Given the description of an element on the screen output the (x, y) to click on. 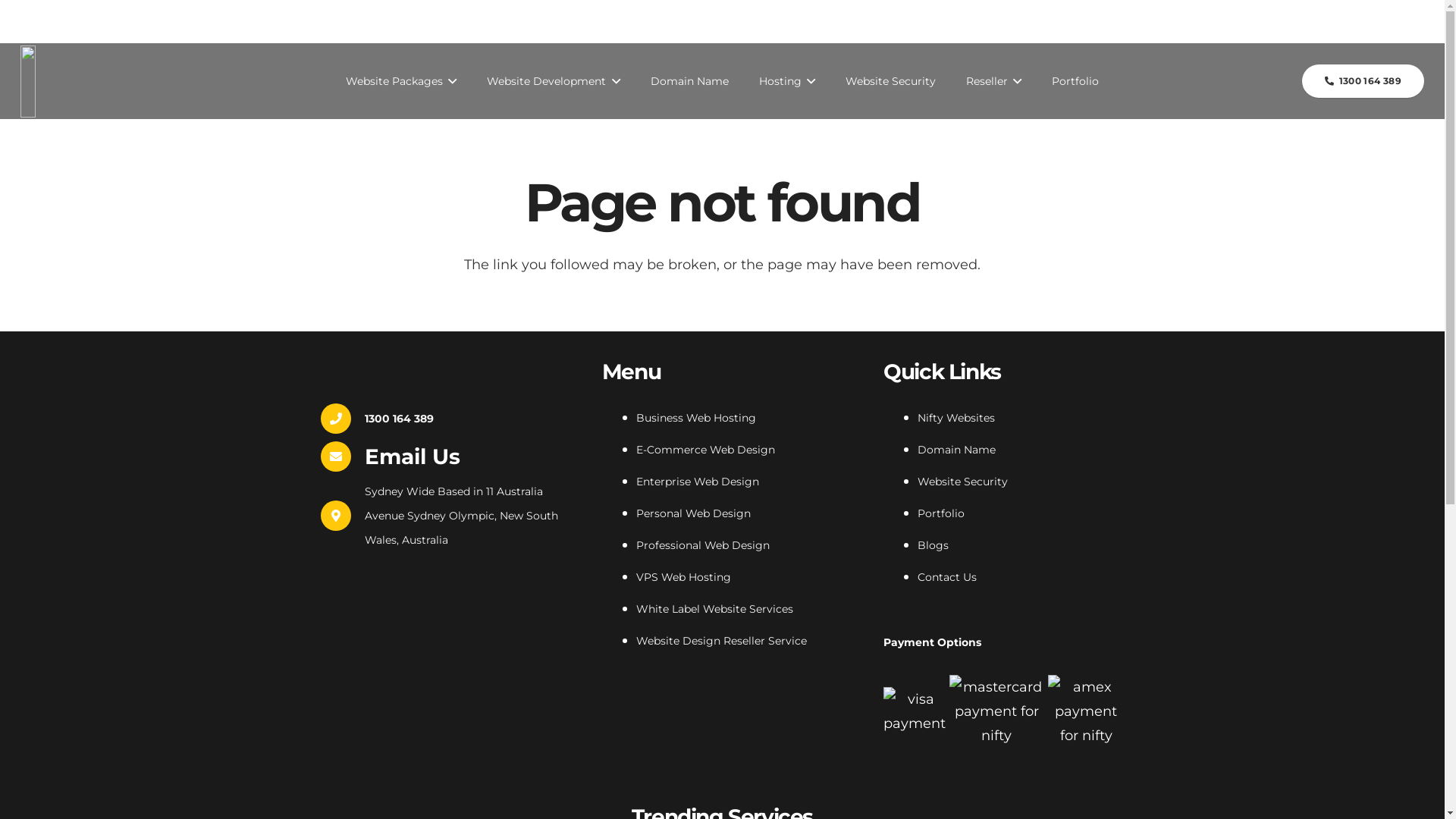
Domain Name Element type: text (956, 449)
VPS Web Hosting Element type: text (683, 576)
Website Development Element type: text (552, 81)
Blogs Element type: text (932, 545)
Domain Name Element type: text (689, 81)
Portfolio Element type: text (940, 513)
Hosting Element type: text (786, 81)
Website Security Element type: text (962, 481)
Contact Us Element type: text (1317, 21)
Email Us Element type: text (412, 456)
Website Design Reseller Service Element type: text (721, 640)
Business Web Hosting Element type: text (696, 417)
Portfolio Element type: text (1074, 81)
Reseller Element type: text (993, 81)
Blogs Element type: text (1393, 21)
Website Security Element type: text (890, 81)
Nifty Websites Element type: text (955, 417)
Personal Web Design Element type: text (693, 513)
Professional Web Design Element type: text (702, 545)
Enterprise Web Design Element type: text (697, 481)
White Label Website Services Element type: text (714, 608)
1300 164 389 Element type: text (398, 418)
Contact Us Element type: text (946, 576)
Website Packages Element type: text (400, 81)
E-Commerce Web Design Element type: text (705, 449)
1300 164 389 Element type: text (1363, 80)
